Given the description of an element on the screen output the (x, y) to click on. 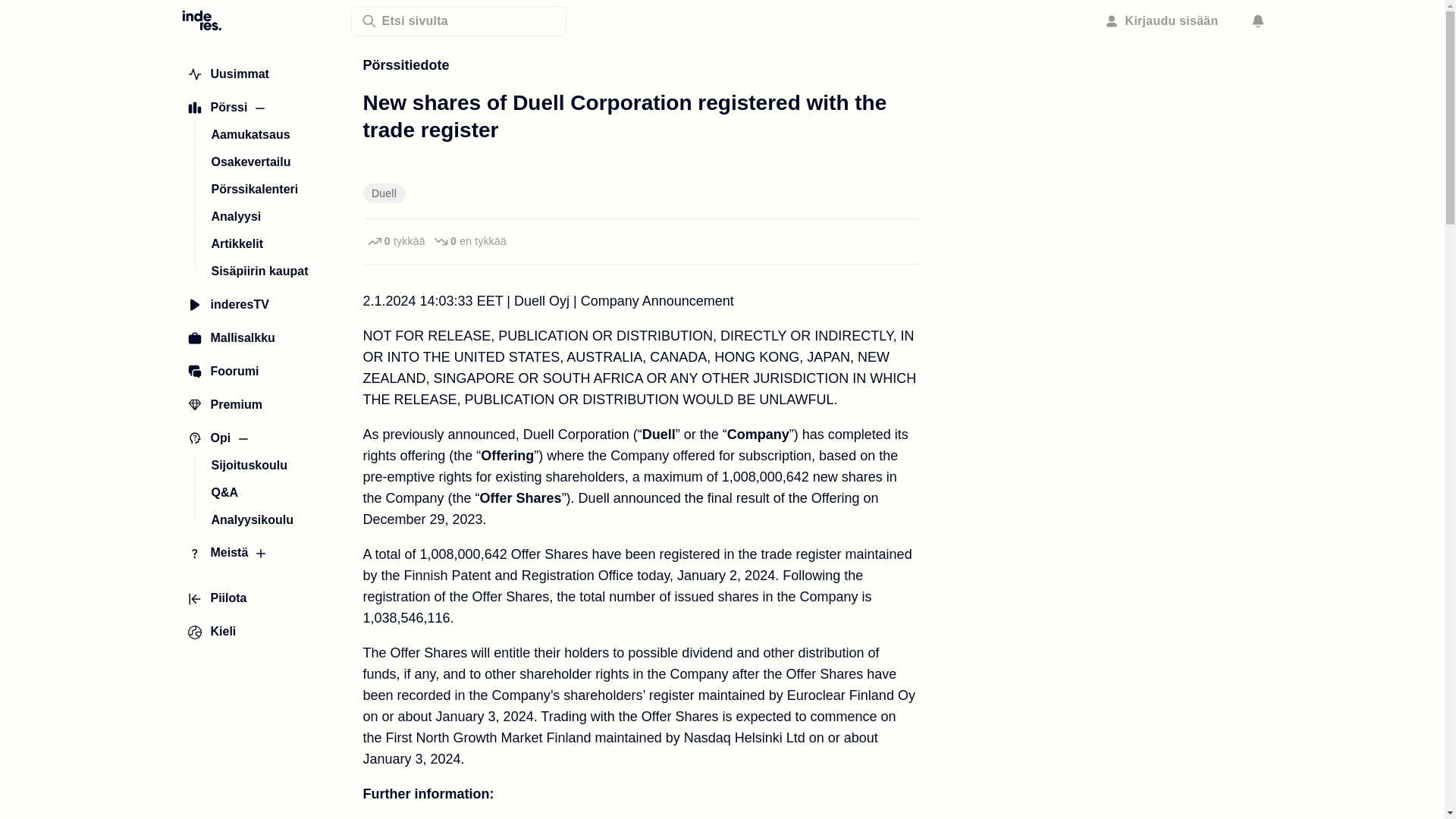
Mallisalkku (230, 338)
inderesTV (227, 304)
Foorumi (222, 371)
Uusimmat (227, 73)
Osakevertailu (250, 162)
Piilota (216, 598)
Etusivulle (201, 19)
Analyysi (235, 216)
Premium (223, 404)
Etsi sivulta (458, 20)
Aamukatsaus (250, 134)
Etsi sivulta (458, 20)
Artikkelit (236, 243)
Analyysikoulu (251, 519)
Kirjaudu reagoidaksesi (469, 241)
